Given the description of an element on the screen output the (x, y) to click on. 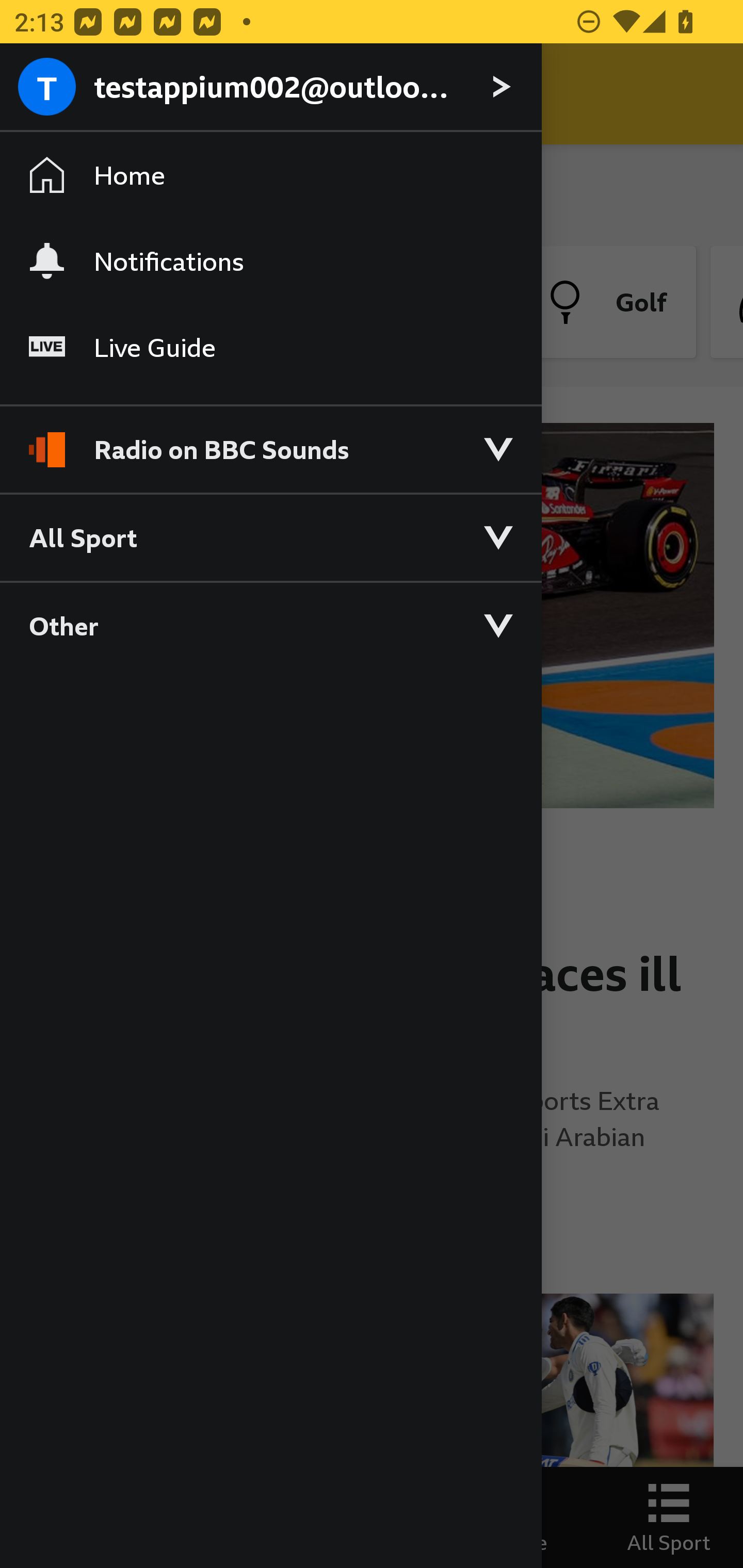
Close Menu (50, 93)
testappium002@outlook.com (270, 87)
Home (270, 174)
Notifications (270, 260)
Live Guide (270, 347)
Radio on BBC Sounds (270, 441)
All Sport (270, 536)
Other (270, 624)
